Given the description of an element on the screen output the (x, y) to click on. 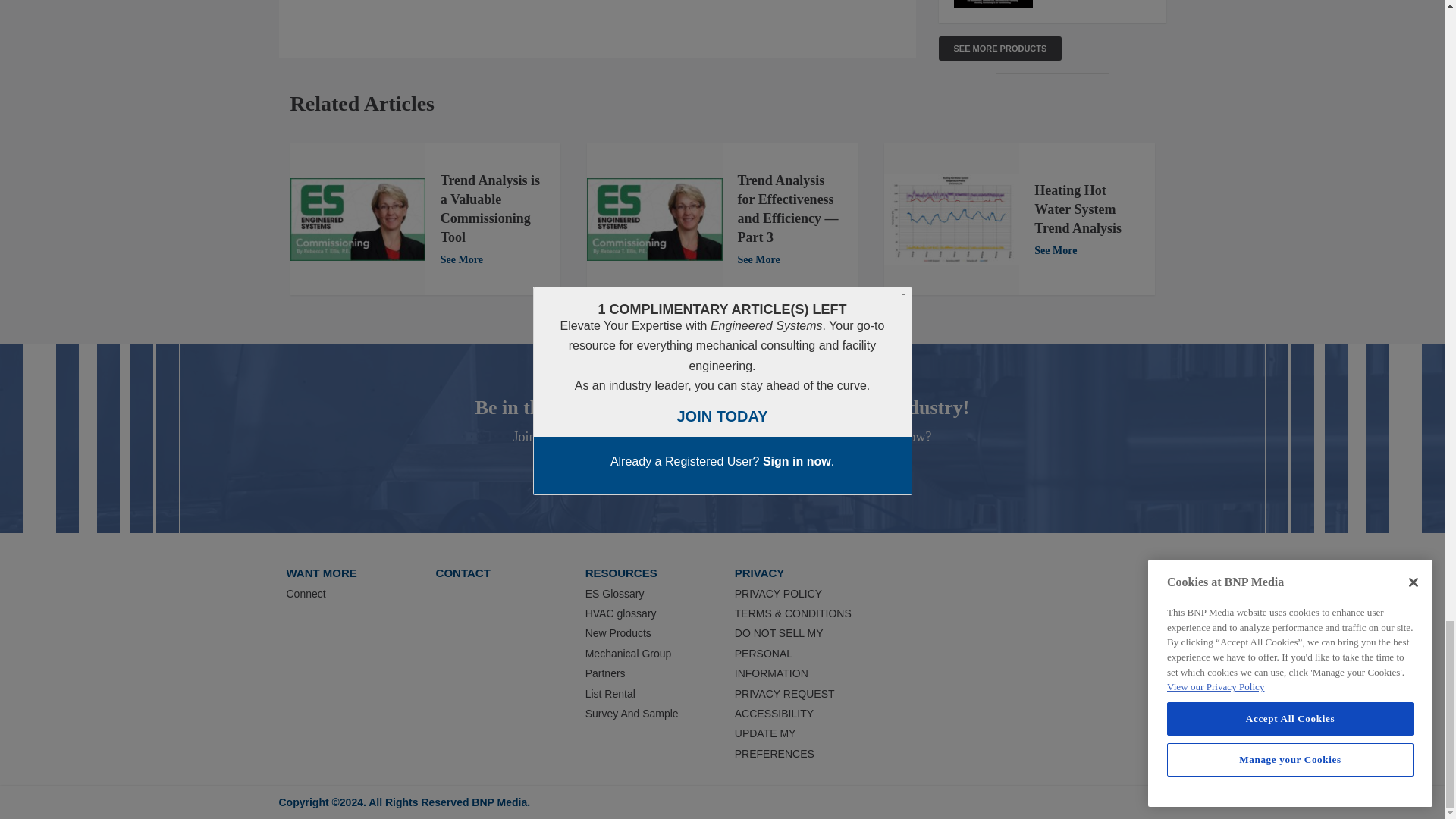
Commissioning (654, 219)
Commissioning (357, 219)
Mc Kew (951, 219)
